Given the description of an element on the screen output the (x, y) to click on. 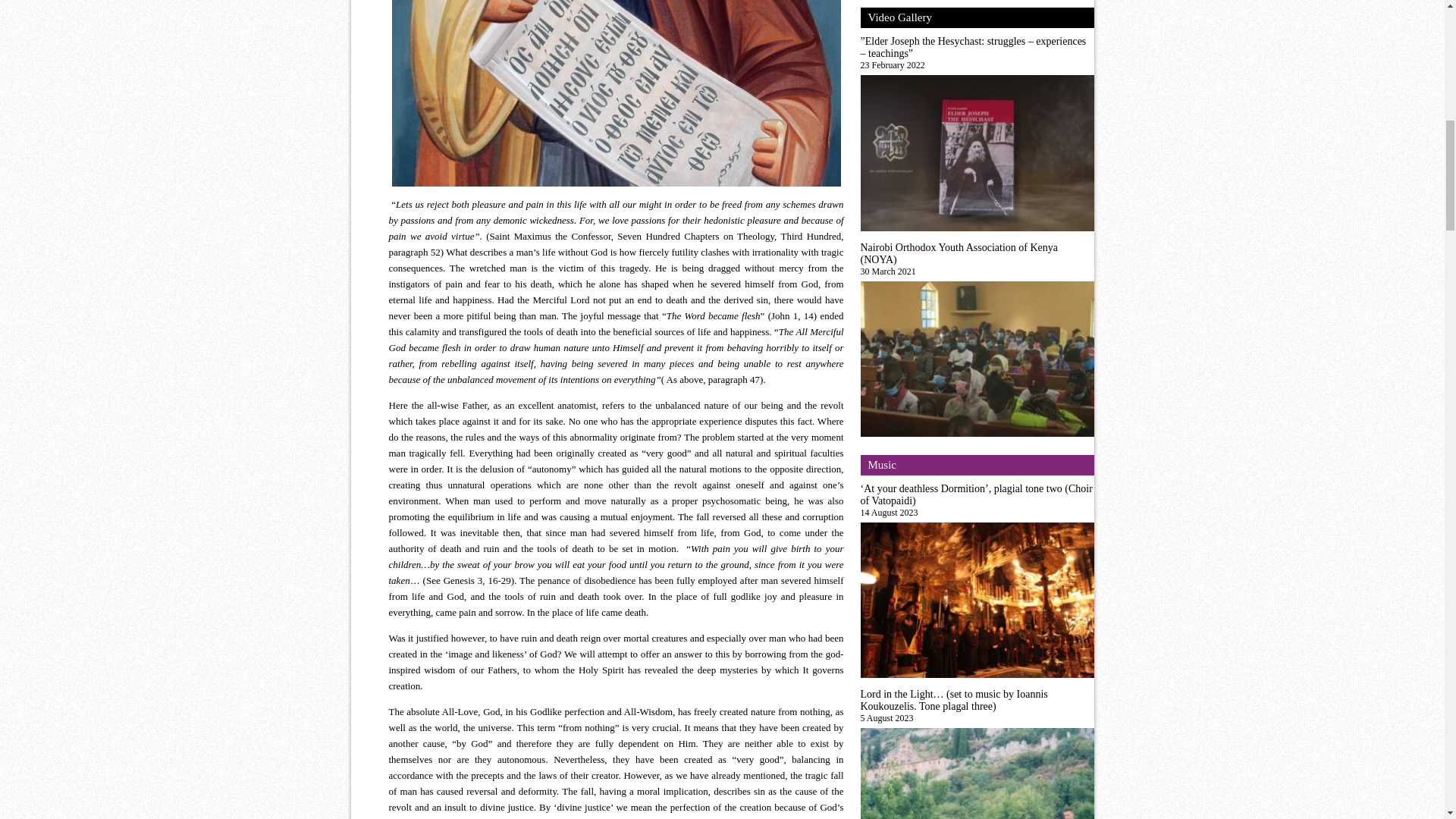
saint maximus (615, 93)
